Given the description of an element on the screen output the (x, y) to click on. 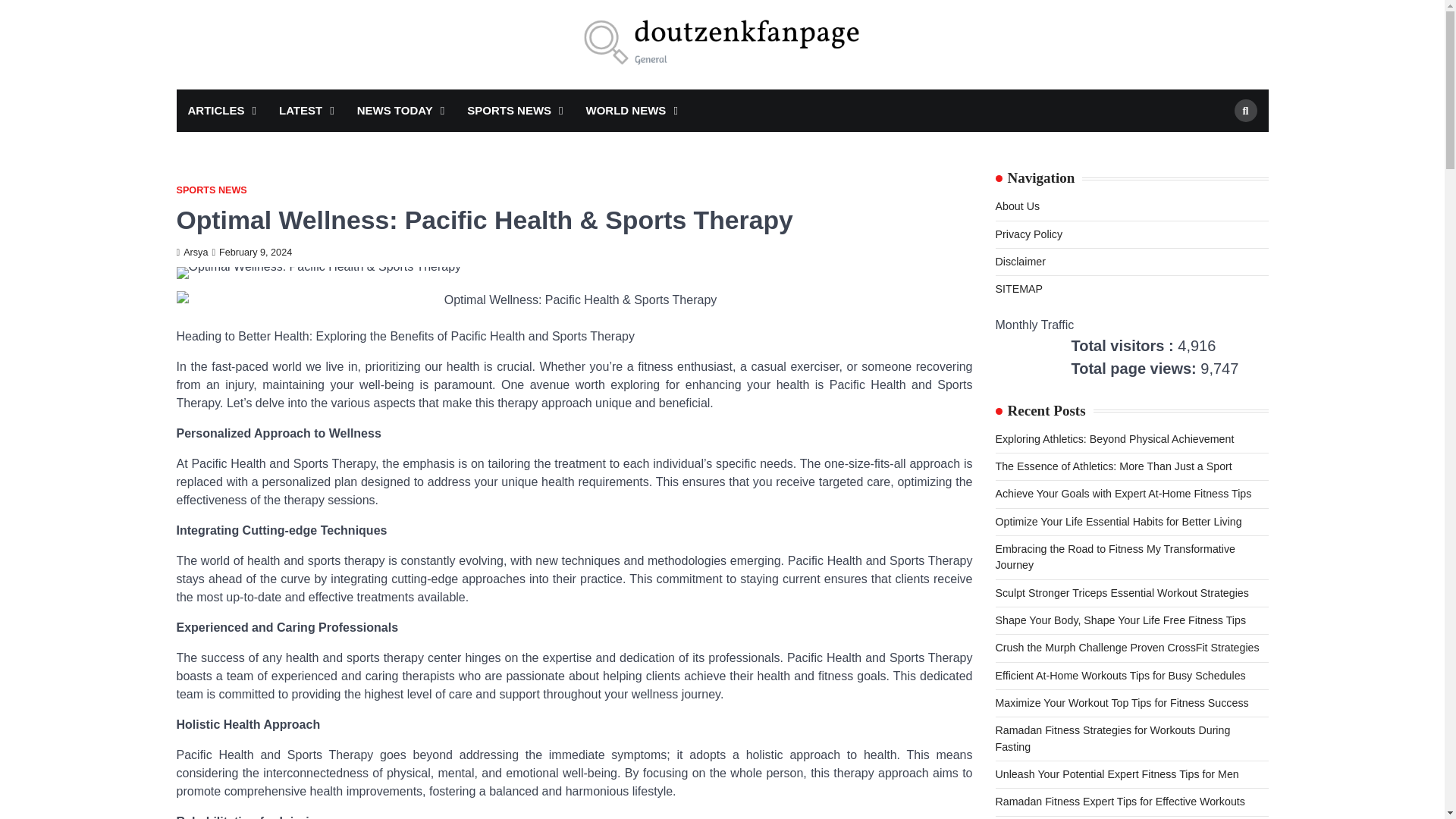
Search (1245, 110)
ARTICLES (221, 110)
Arsya (192, 252)
SPORTS NEWS (514, 110)
NEWS TODAY (401, 110)
Search (1217, 145)
WORLD NEWS (631, 110)
LATEST (306, 110)
SPORTS NEWS (211, 190)
February 9, 2024 (251, 252)
